Given the description of an element on the screen output the (x, y) to click on. 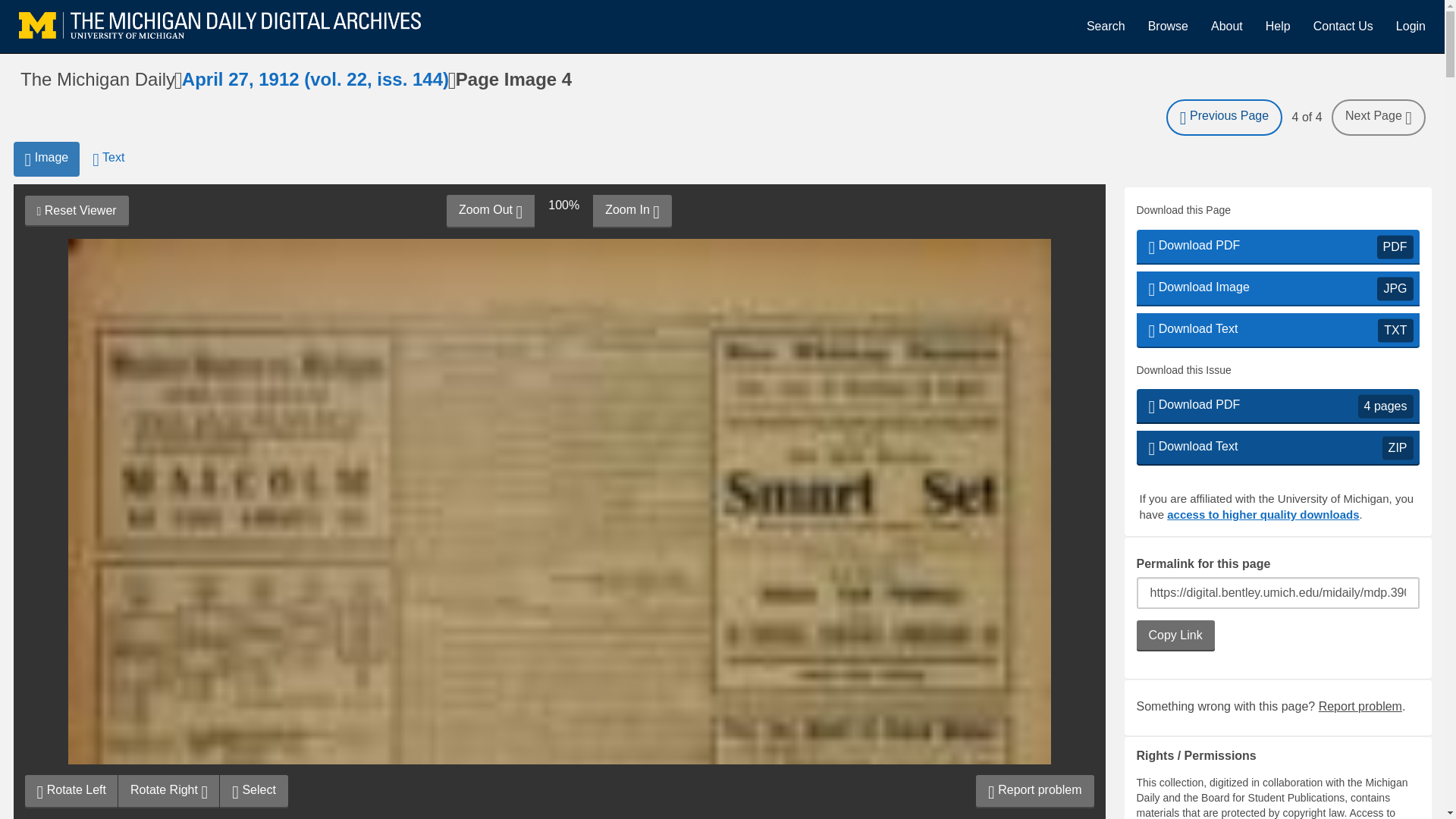
Login (1410, 26)
About (1226, 26)
Browse (1168, 26)
Search (1106, 26)
Rotate Right (168, 791)
Zoom Out (490, 211)
Rotate Left (70, 791)
Reset Viewer (76, 210)
Image (1276, 288)
Contact Us (46, 158)
Previous Page (1276, 448)
Copy Link (1342, 26)
